Given the description of an element on the screen output the (x, y) to click on. 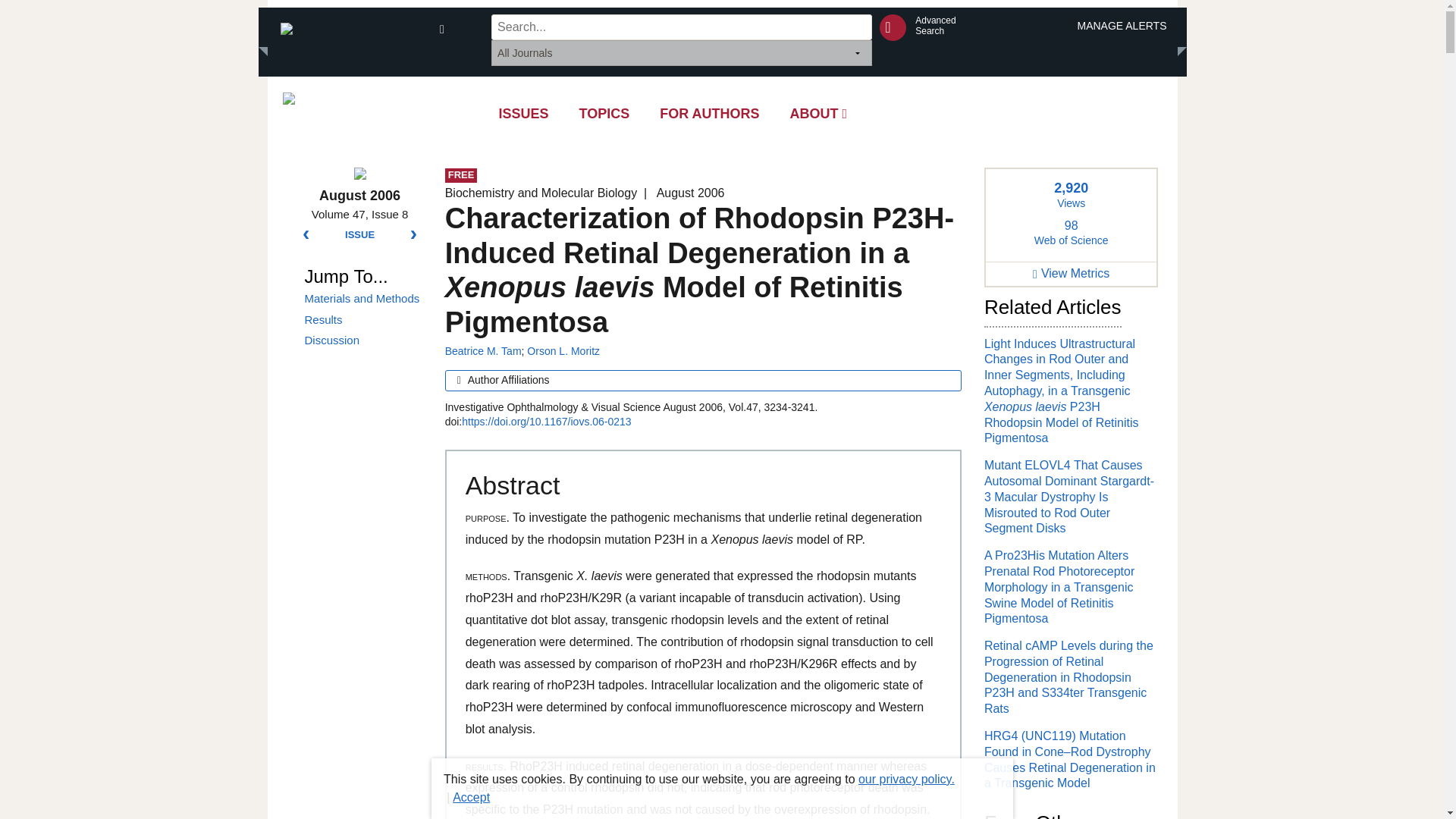
Beatrice M. Tam (483, 350)
Discussion (362, 340)
Materials and Methods (362, 298)
FOR AUTHORS (709, 114)
Orson L. Moritz (563, 350)
Results (935, 25)
Results (362, 319)
ABOUT (362, 319)
ISSUES (818, 114)
